Given the description of an element on the screen output the (x, y) to click on. 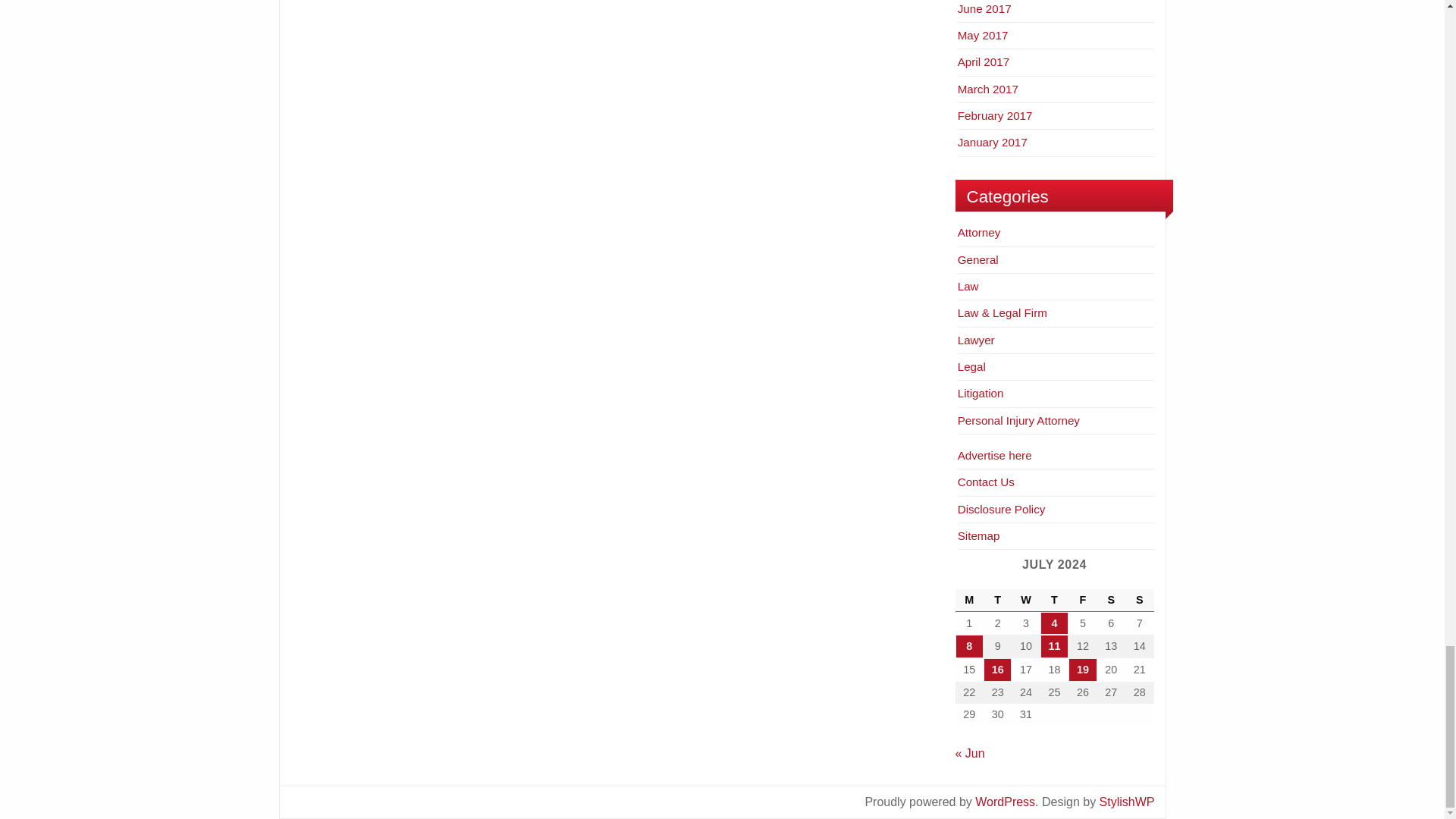
Saturday (1111, 599)
Sunday (1139, 599)
Friday (1082, 599)
Wednesday (1025, 599)
BlogoLife (1126, 801)
Thursday (1054, 599)
Tuesday (997, 599)
Monday (969, 599)
